Given the description of an element on the screen output the (x, y) to click on. 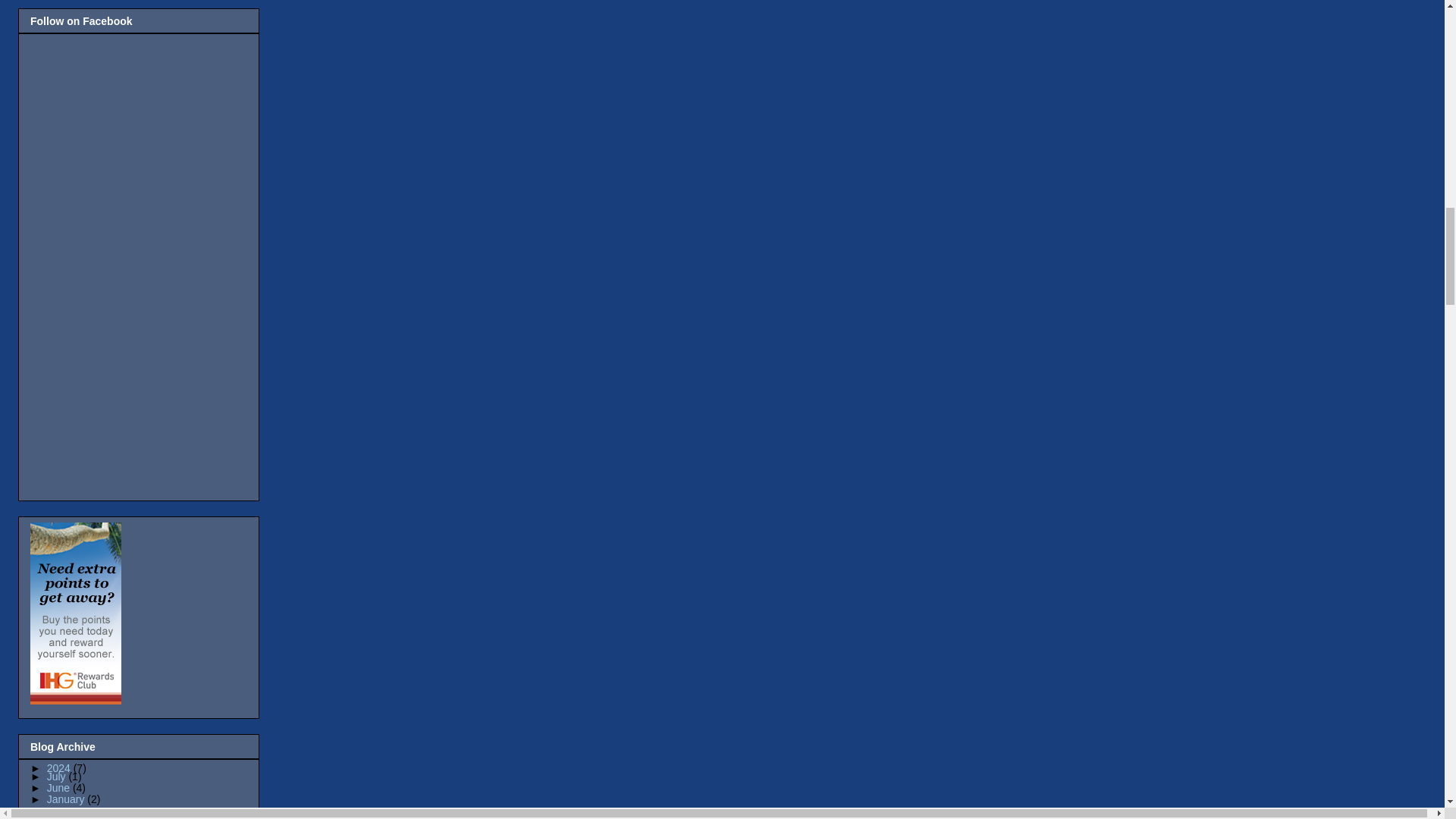
June (59, 787)
2024 (60, 767)
January (66, 799)
July (57, 776)
